Given the description of an element on the screen output the (x, y) to click on. 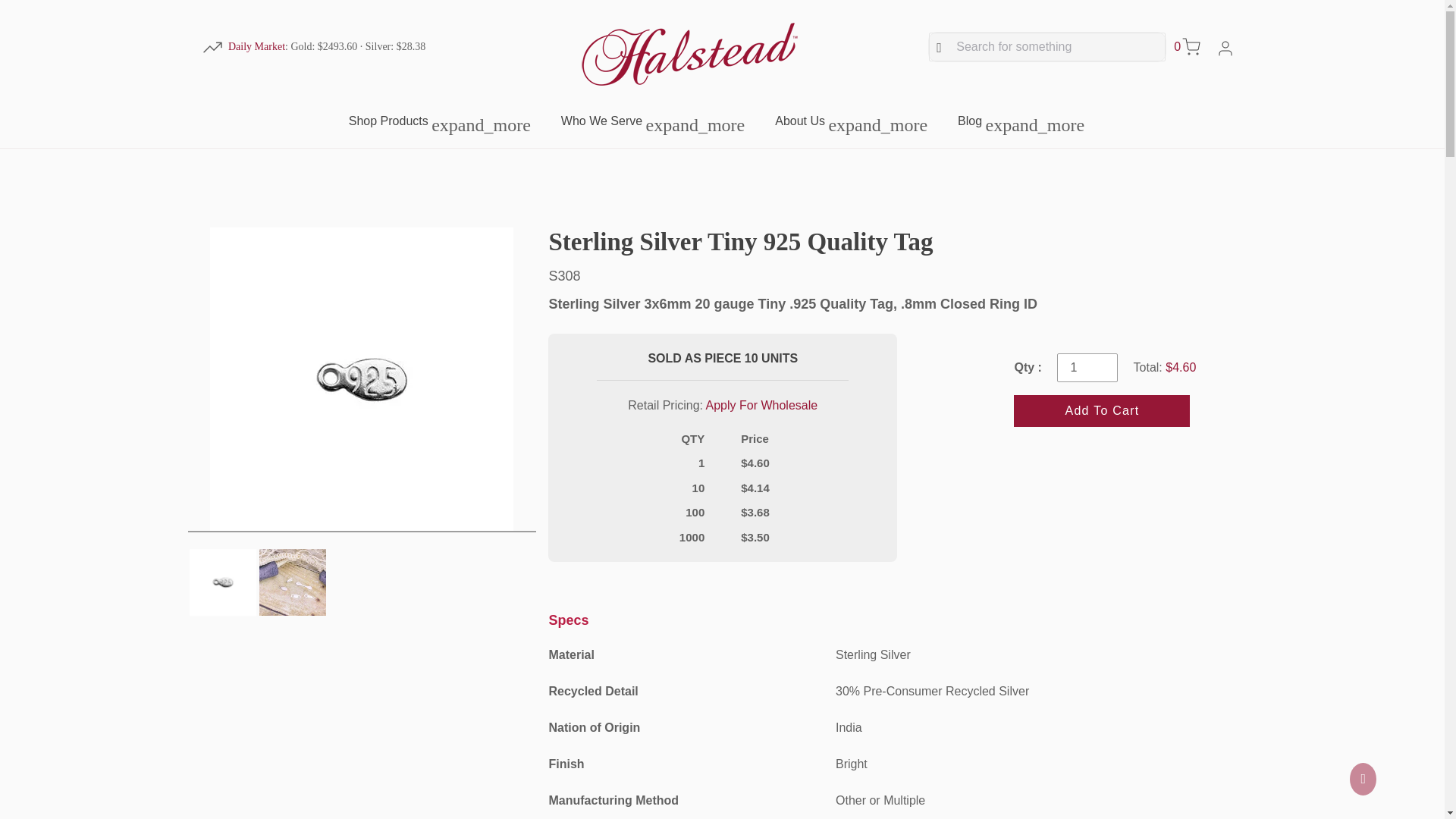
Manage your account (1224, 46)
0 (1186, 46)
Search (1047, 46)
Sterling Silver Tiny 925 Quality Tag (902, 242)
Daily Market Value (256, 45)
Daily Market (256, 45)
1 (1087, 367)
